Given the description of an element on the screen output the (x, y) to click on. 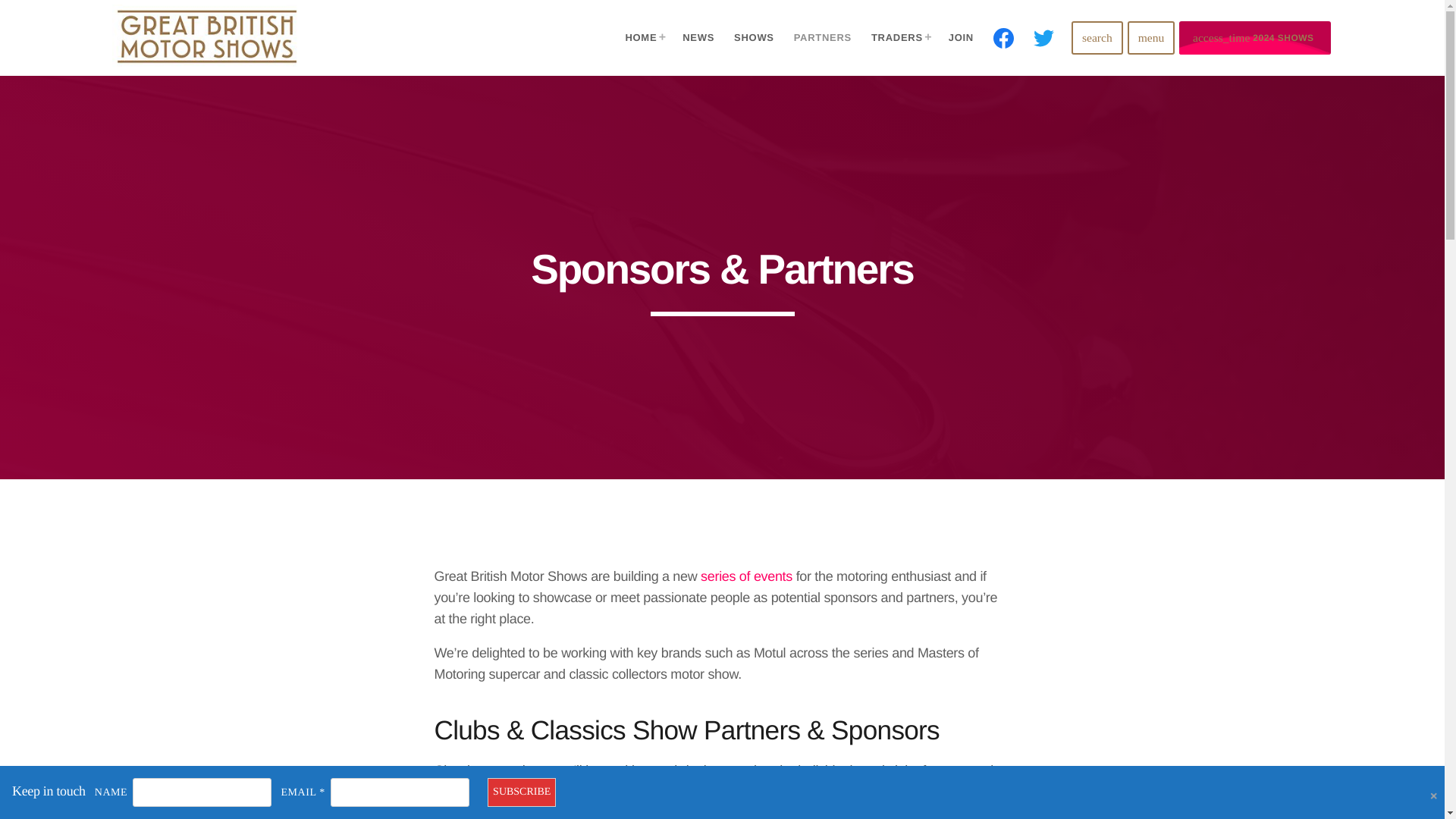
SUBSCRIBE (521, 792)
NEWS (698, 37)
JOIN (960, 37)
TRADERS (899, 37)
HOME (644, 37)
search (1096, 37)
PARTNERS (822, 37)
menu (1150, 37)
SHOWS (753, 37)
